Given the description of an element on the screen output the (x, y) to click on. 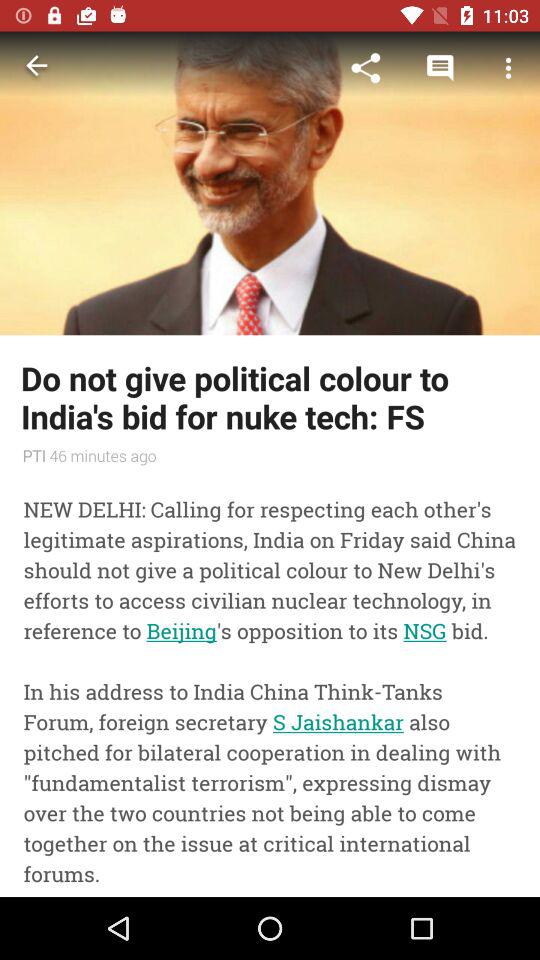
go back (36, 68)
